Given the description of an element on the screen output the (x, y) to click on. 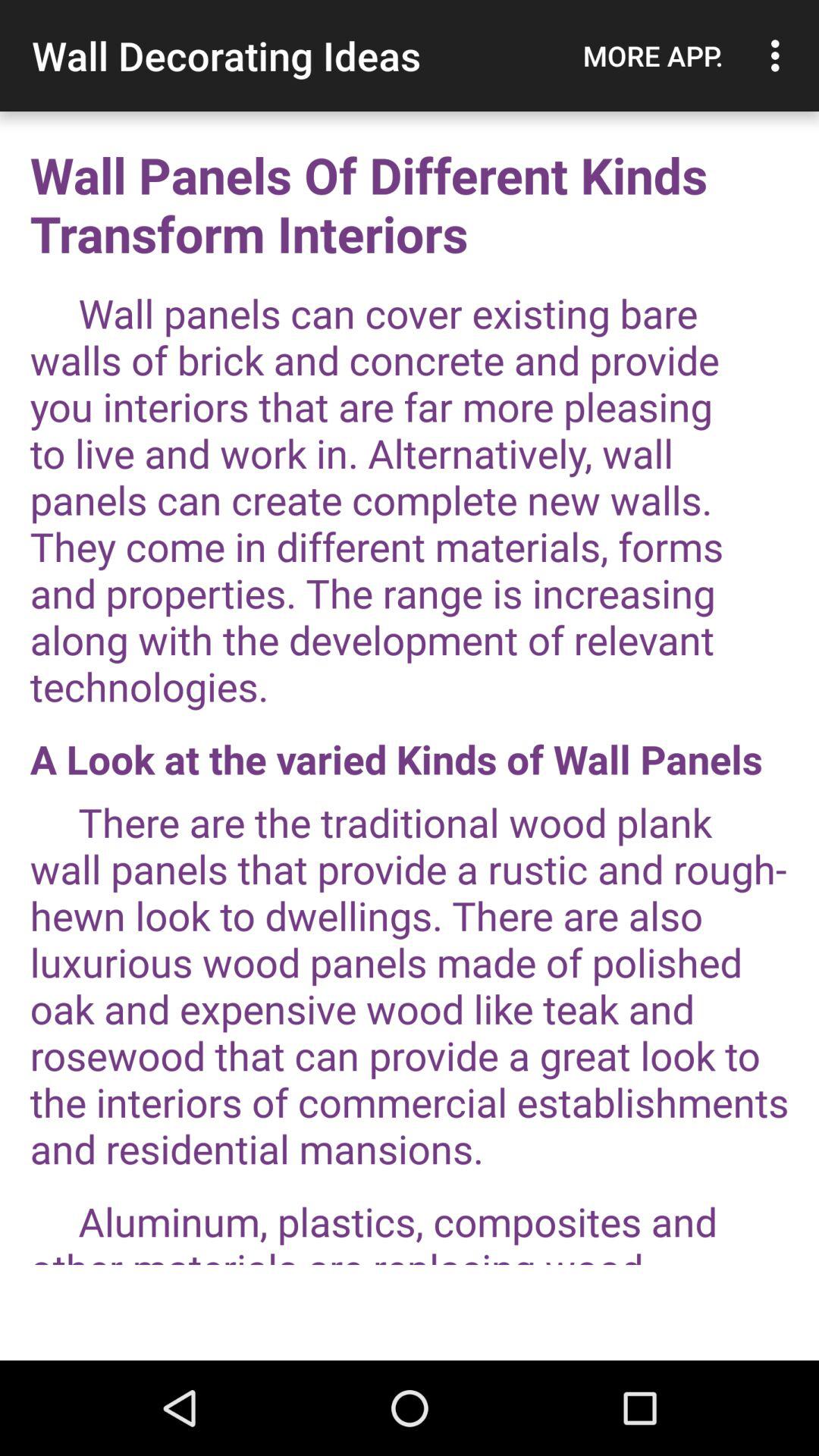
open the app to the right of the wall decorating ideas icon (653, 55)
